Given the description of an element on the screen output the (x, y) to click on. 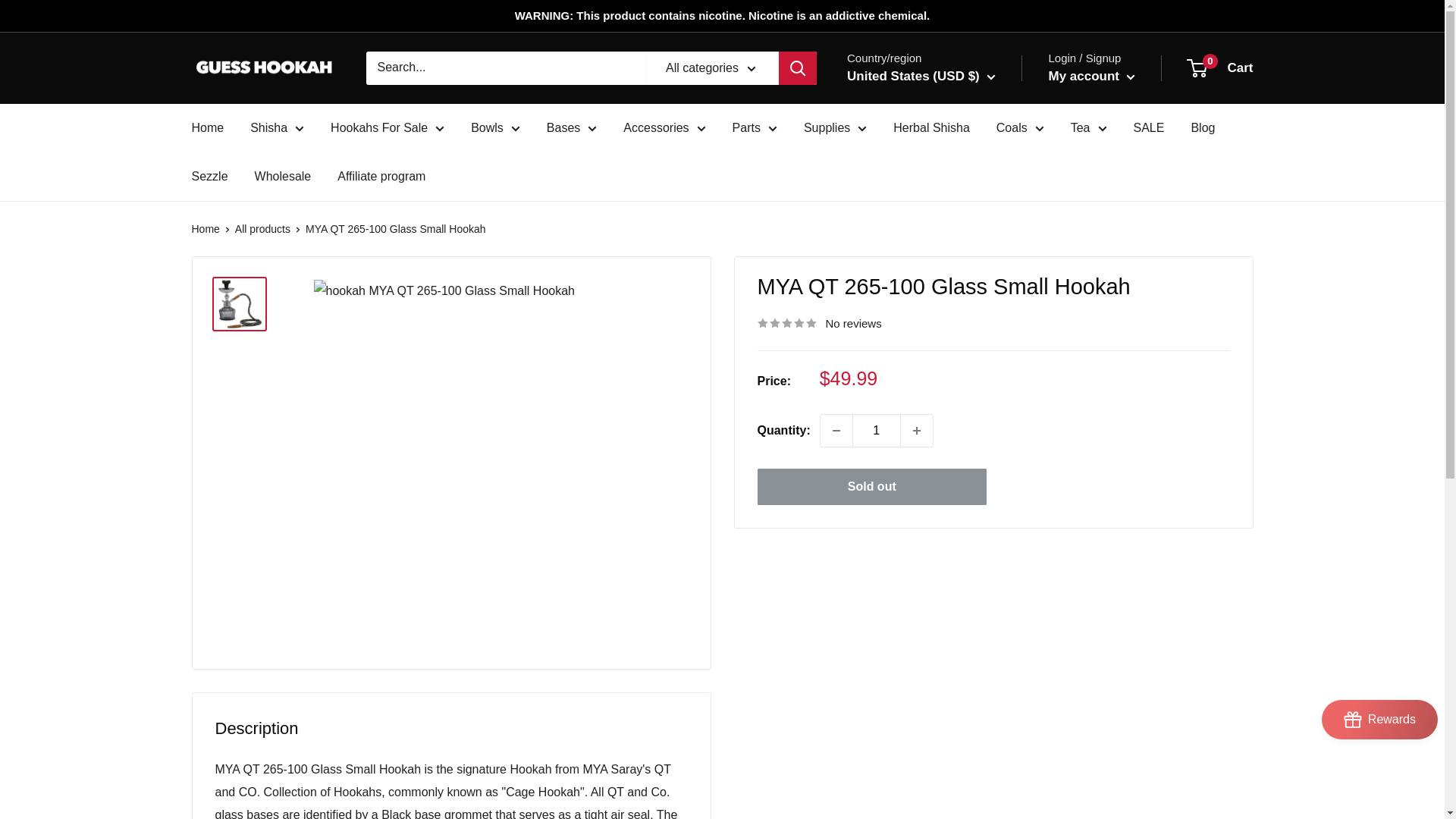
Decrease quantity by 1 (836, 430)
1 (876, 430)
Increase quantity by 1 (917, 430)
